Given the description of an element on the screen output the (x, y) to click on. 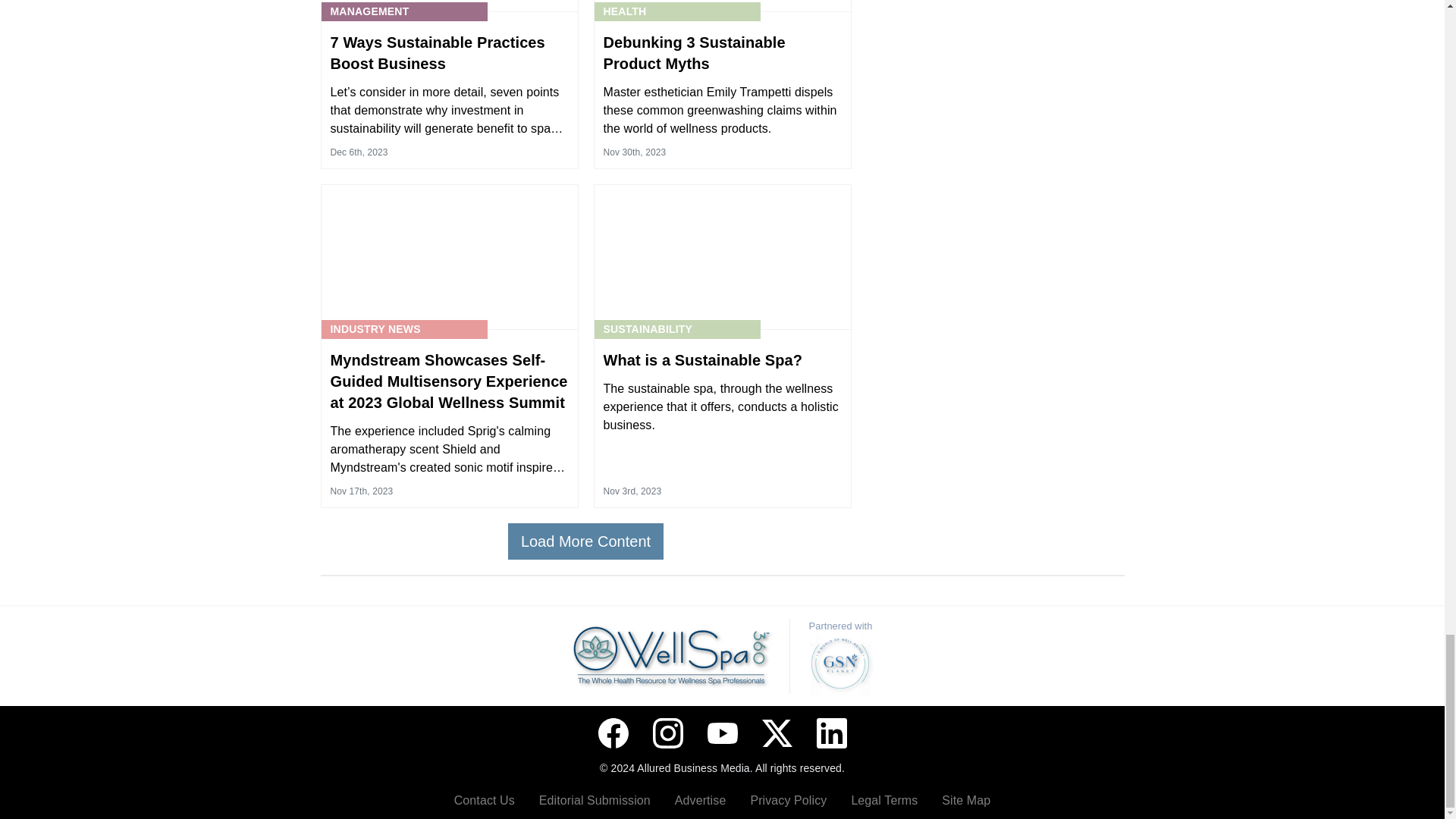
Instagram icon (667, 733)
Twitter X icon (776, 733)
Facebook icon (611, 733)
YouTube icon (721, 733)
